Given the description of an element on the screen output the (x, y) to click on. 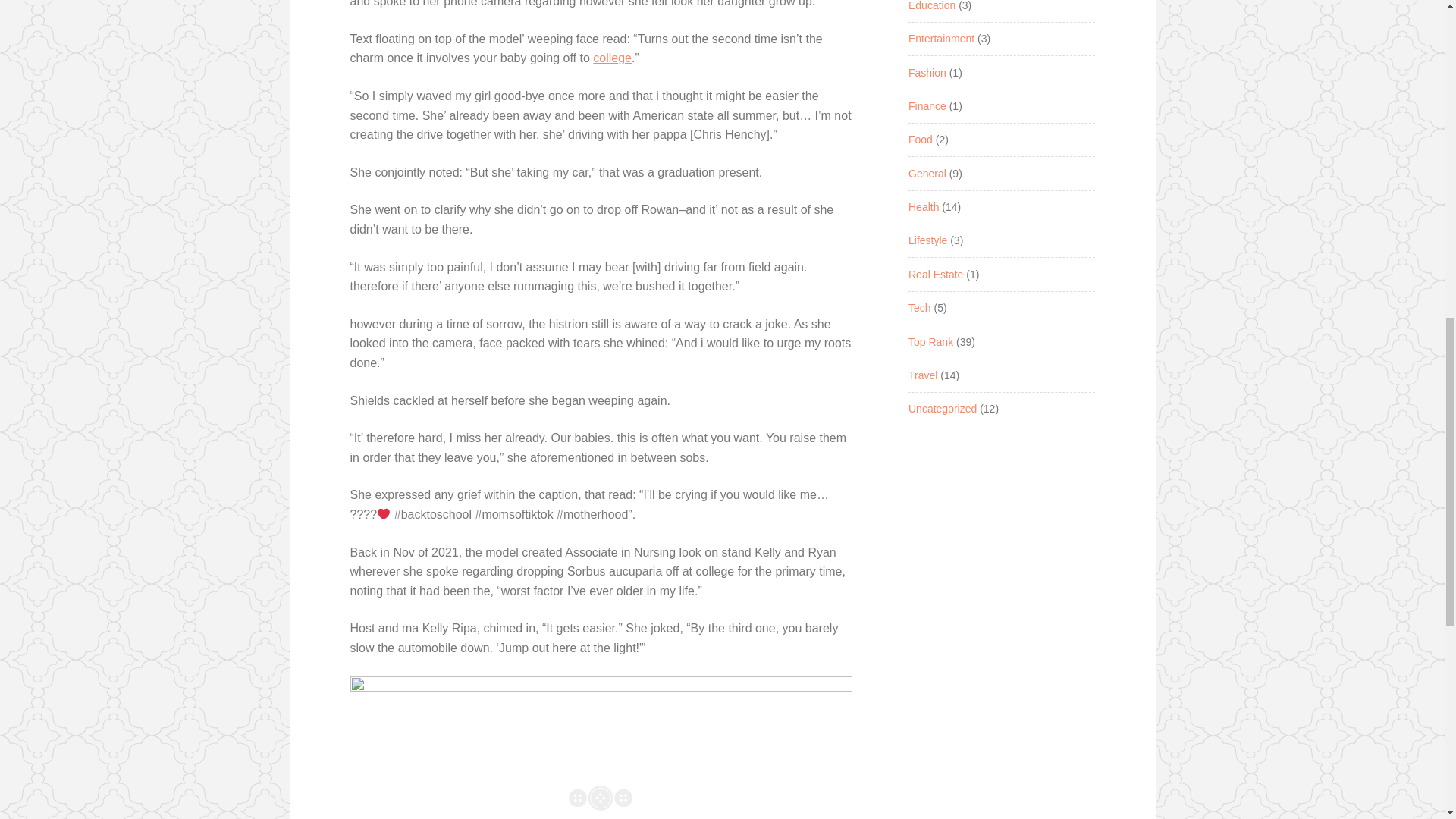
Entertainment (941, 38)
Health (923, 206)
Education (931, 5)
college (611, 57)
General (927, 173)
Fashion (927, 72)
Finance (927, 105)
Lifestyle (927, 240)
Food (920, 139)
